Given the description of an element on the screen output the (x, y) to click on. 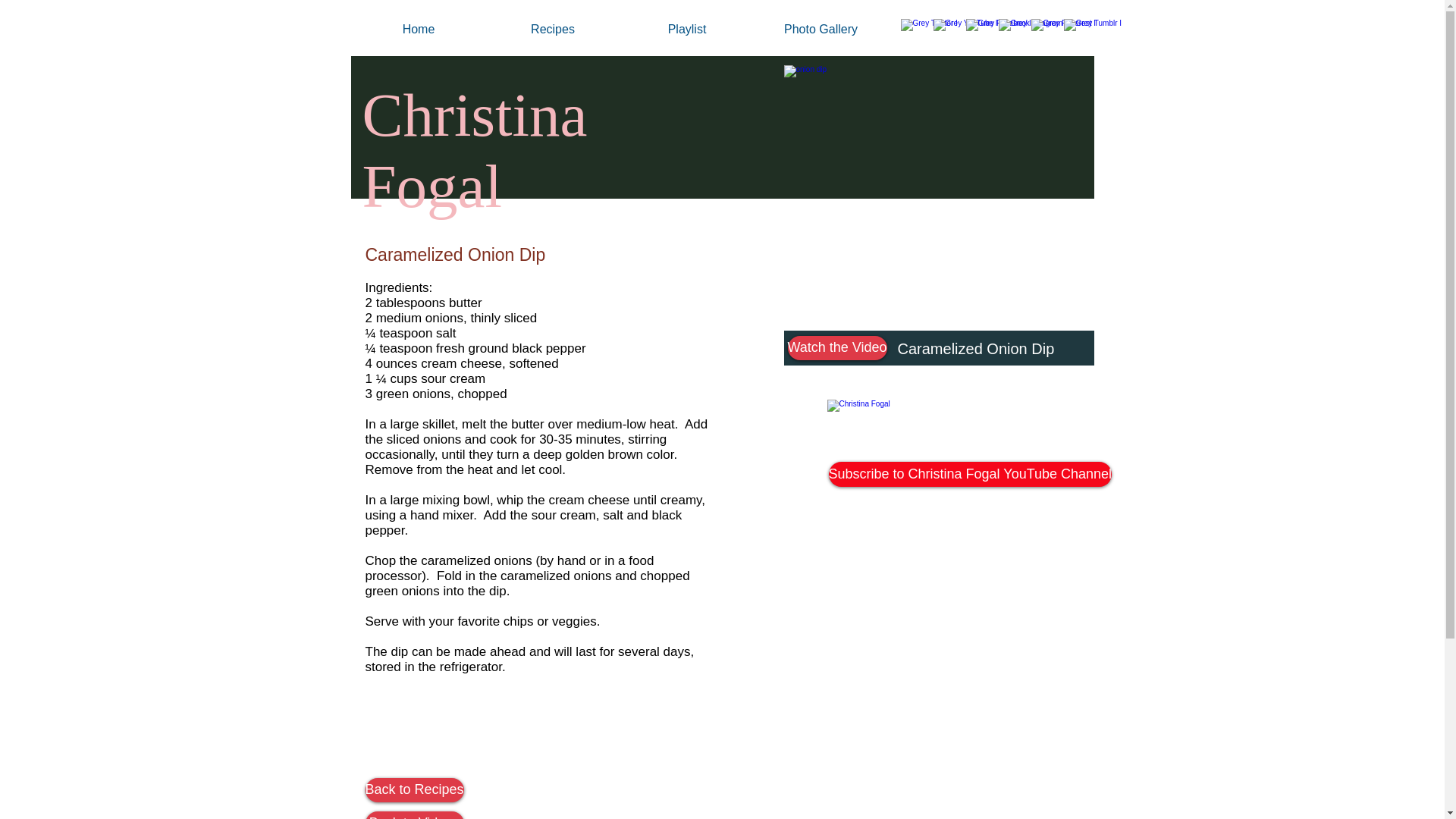
Back to Videos (414, 815)
Home (419, 29)
Photo Gallery (820, 29)
Watch the Video (836, 347)
Subscribe to Christina Fogal YouTube Channel (970, 473)
Recipes (552, 29)
Back to Recipes (414, 790)
Playlist (687, 29)
